Given the description of an element on the screen output the (x, y) to click on. 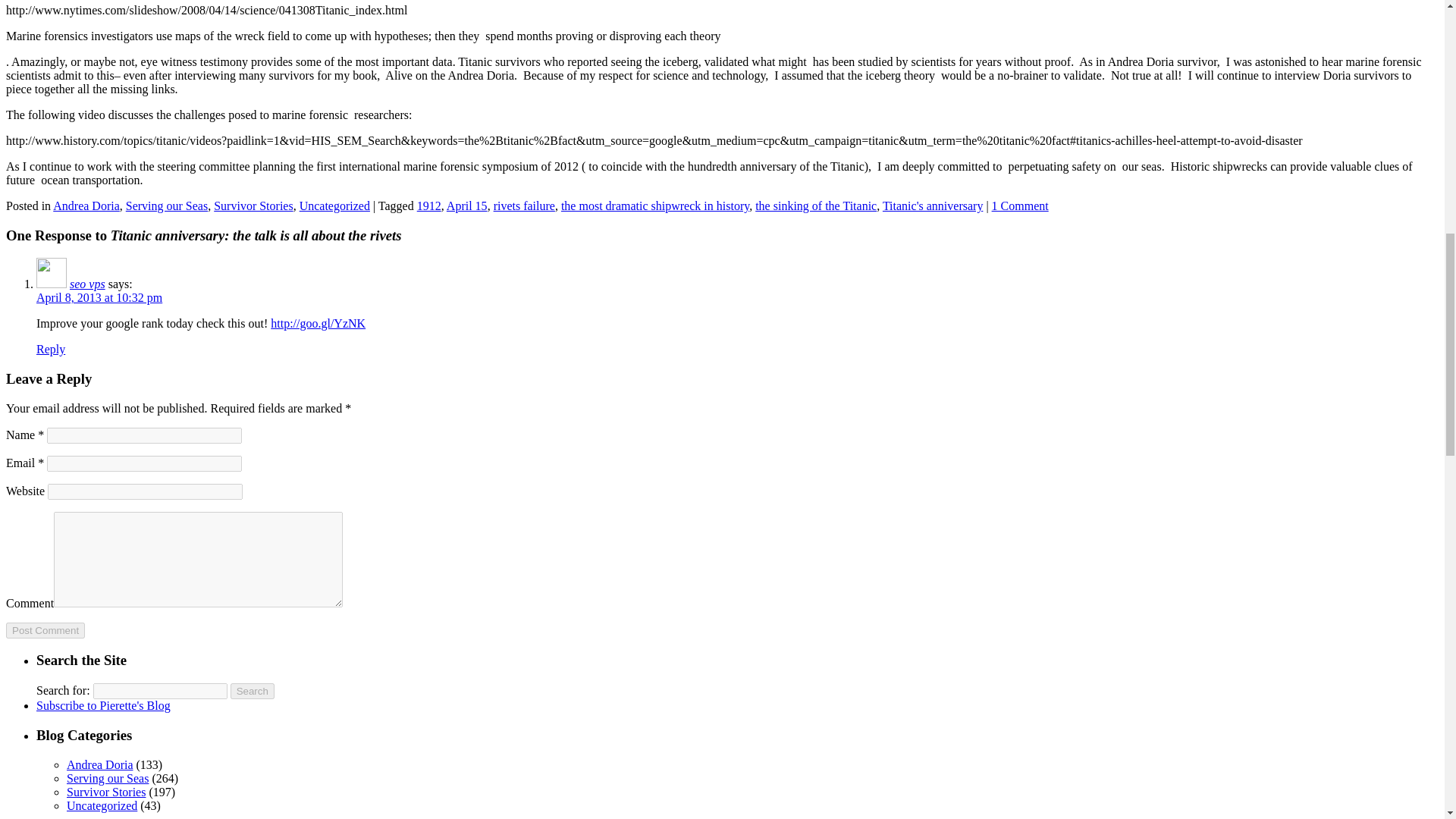
Search (252, 691)
Post Comment (44, 630)
